Given the description of an element on the screen output the (x, y) to click on. 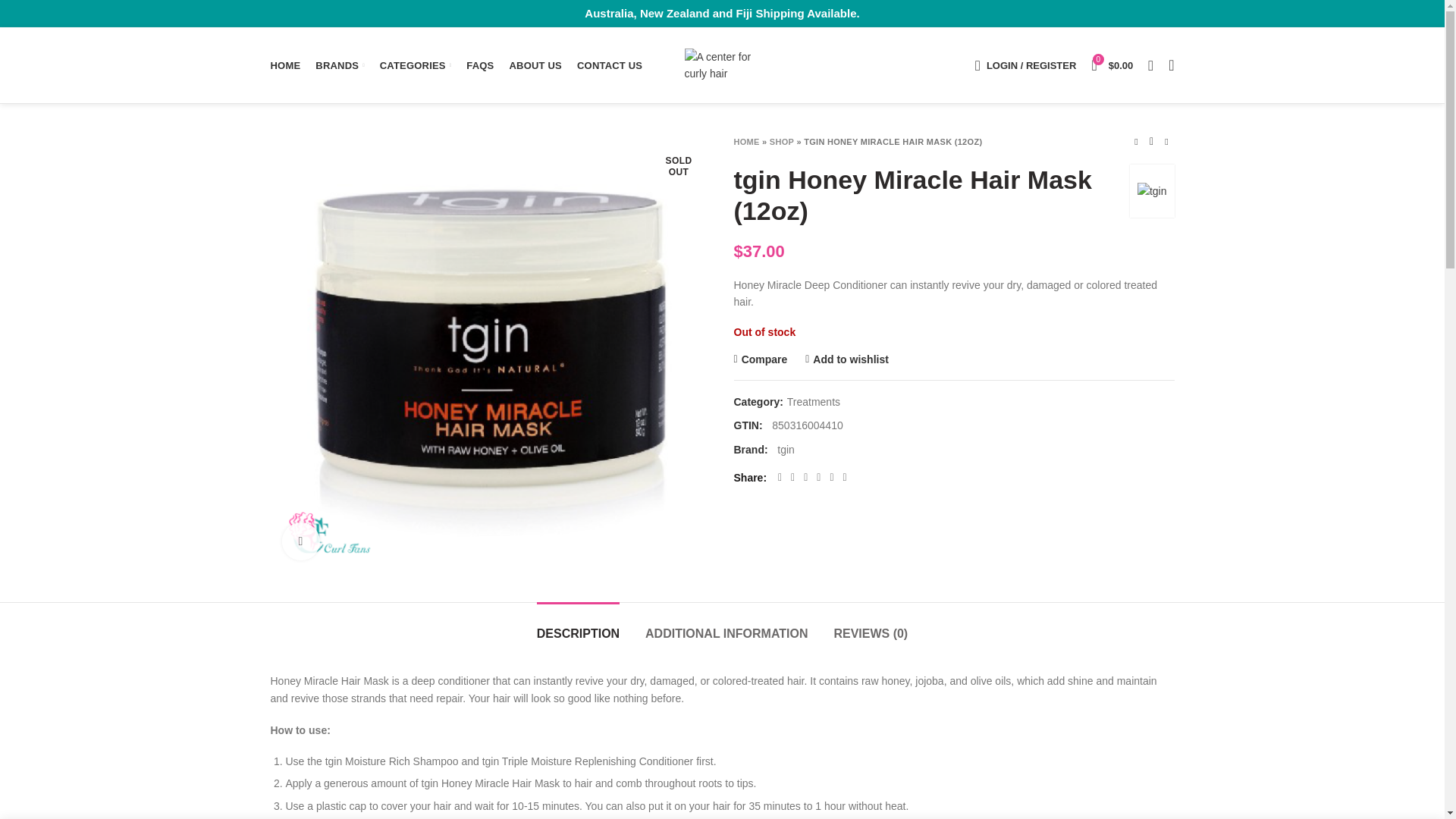
CONTACT US (609, 64)
tgin (1152, 190)
Search (1150, 64)
BRANDS (339, 64)
ABOUT US (534, 64)
FAQS (479, 64)
My Wishlist (1170, 64)
My account (1025, 64)
CATEGORIES (416, 64)
Shopping cart (1111, 64)
HOME (284, 64)
Log in (950, 302)
